Given the description of an element on the screen output the (x, y) to click on. 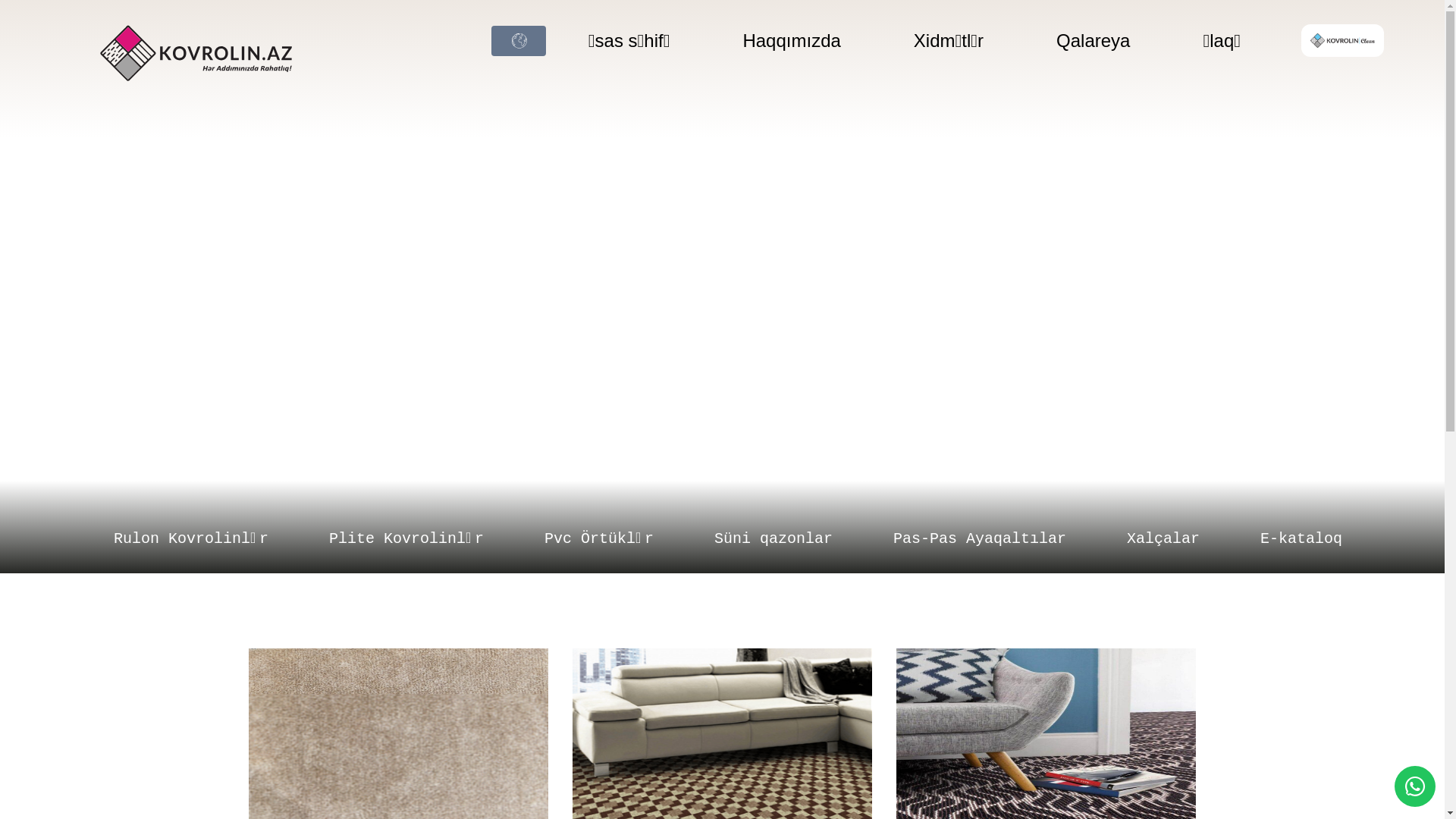
Qalareya Element type: text (1157, 38)
E-kataloq Element type: text (1301, 538)
